Given the description of an element on the screen output the (x, y) to click on. 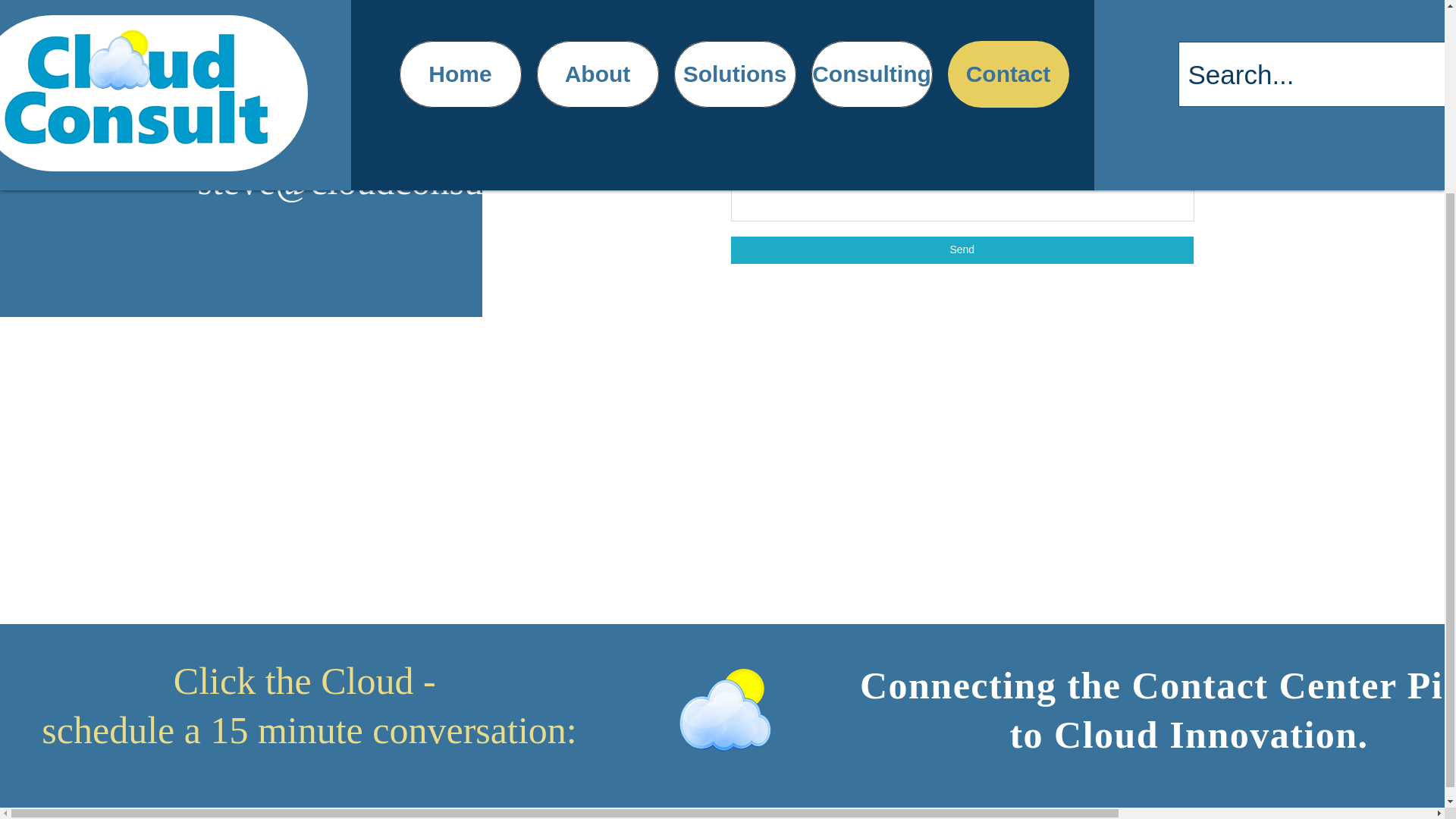
CloudConsult (462, 12)
Send (961, 249)
